Given the description of an element on the screen output the (x, y) to click on. 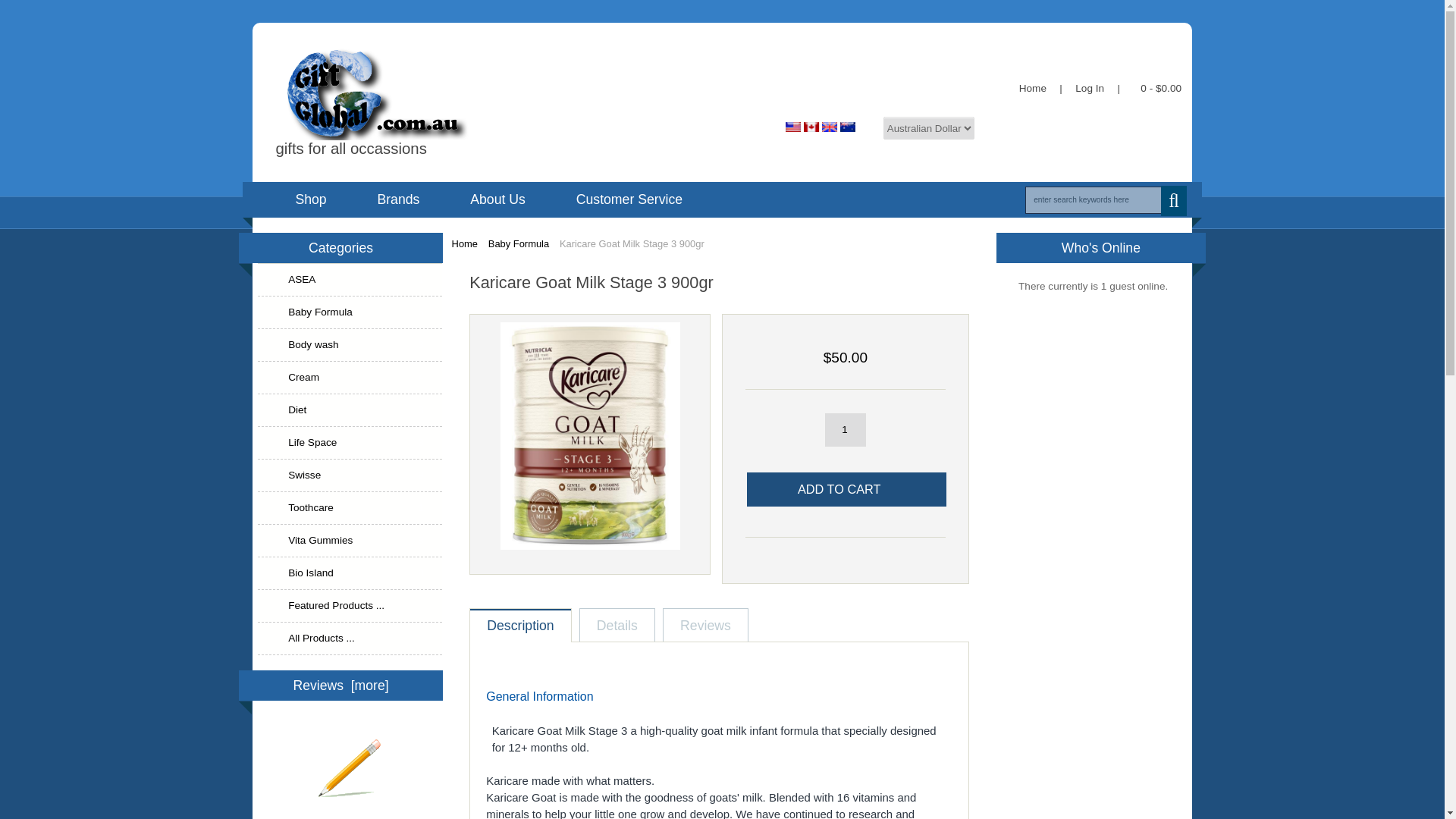
Log In Element type: text (1089, 88)
Karicare Goat Milk Stage 3 900gr Element type: hover (590, 546)
Description Element type: text (520, 625)
Life Space
3 Element type: text (349, 442)
 Giftglobal :: Gifts for all occasions  Element type: hover (426, 92)
Baby Formula Element type: text (518, 243)
Shop Element type: text (310, 199)
Swisse
9 Element type: text (349, 475)
Diet
3 Element type: text (349, 410)
Home Element type: text (1032, 88)
Details Element type: text (617, 625)
Brands Element type: text (398, 199)
Add to Cart Element type: text (846, 489)
ASEA
1 Element type: text (349, 279)
 Karicare Goat Milk Stage 3 900gr  Element type: hover (590, 435)
 English  Element type: hover (820, 126)
0 - $0.00 Element type: text (1157, 88)
All Products ... Element type: text (349, 638)
Bio Island
8 Element type: text (349, 573)
Body wash
3 Element type: text (349, 345)
Cream
4 Element type: text (349, 377)
Toothcare
1 Element type: text (349, 508)
Home Element type: text (464, 243)
Baby Formula
6 Element type: text (349, 312)
 Write a review on this product.  Element type: hover (349, 768)
Vita Gummies
8 Element type: text (349, 540)
Featured Products ... Element type: text (349, 605)
About Us Element type: text (497, 199)
Customer Service Element type: text (629, 199)
Reviews  [more] Element type: text (340, 685)
Reviews Element type: text (705, 625)
